Given the description of an element on the screen output the (x, y) to click on. 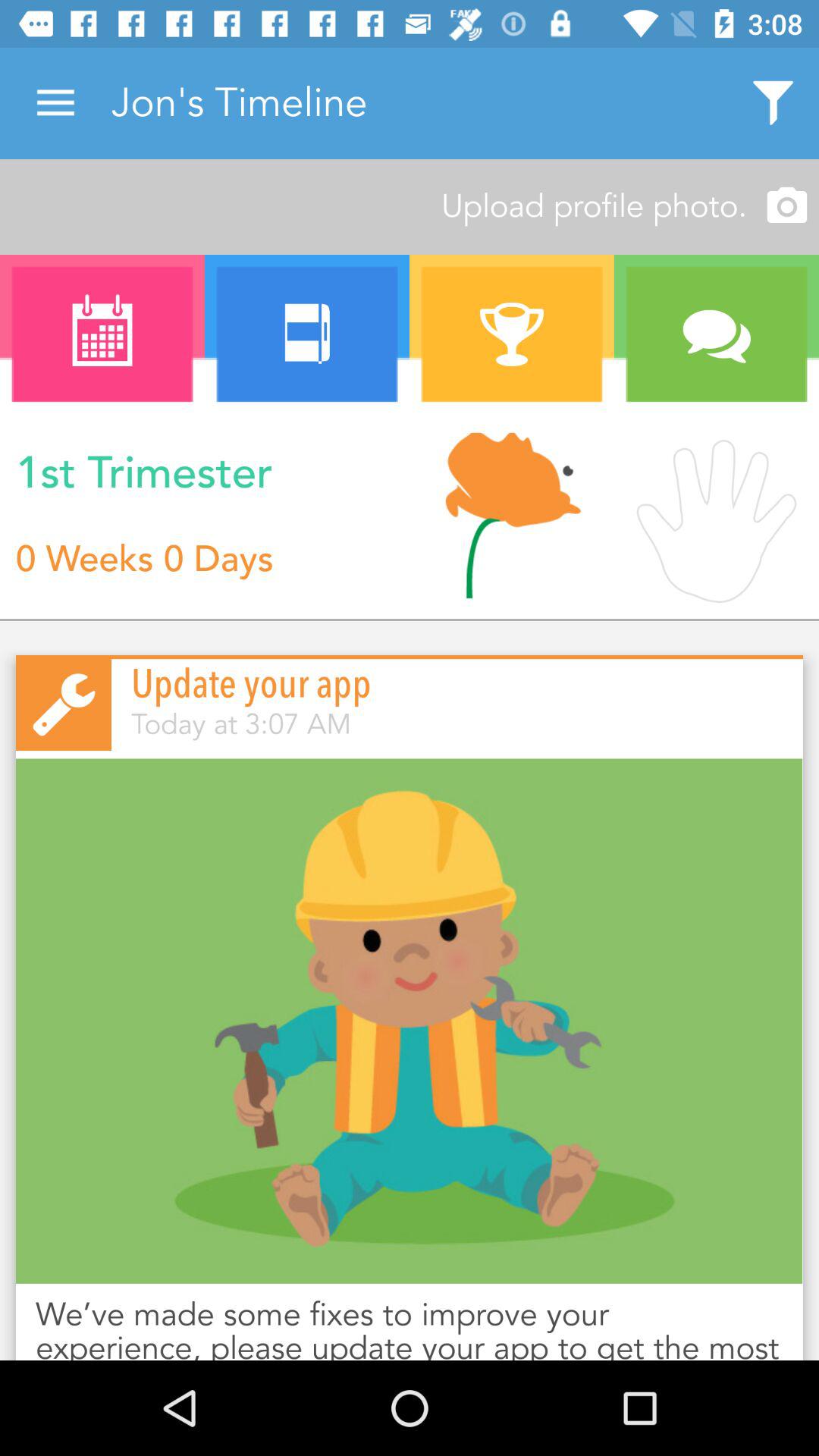
tap icon above a icon (409, 206)
